Given the description of an element on the screen output the (x, y) to click on. 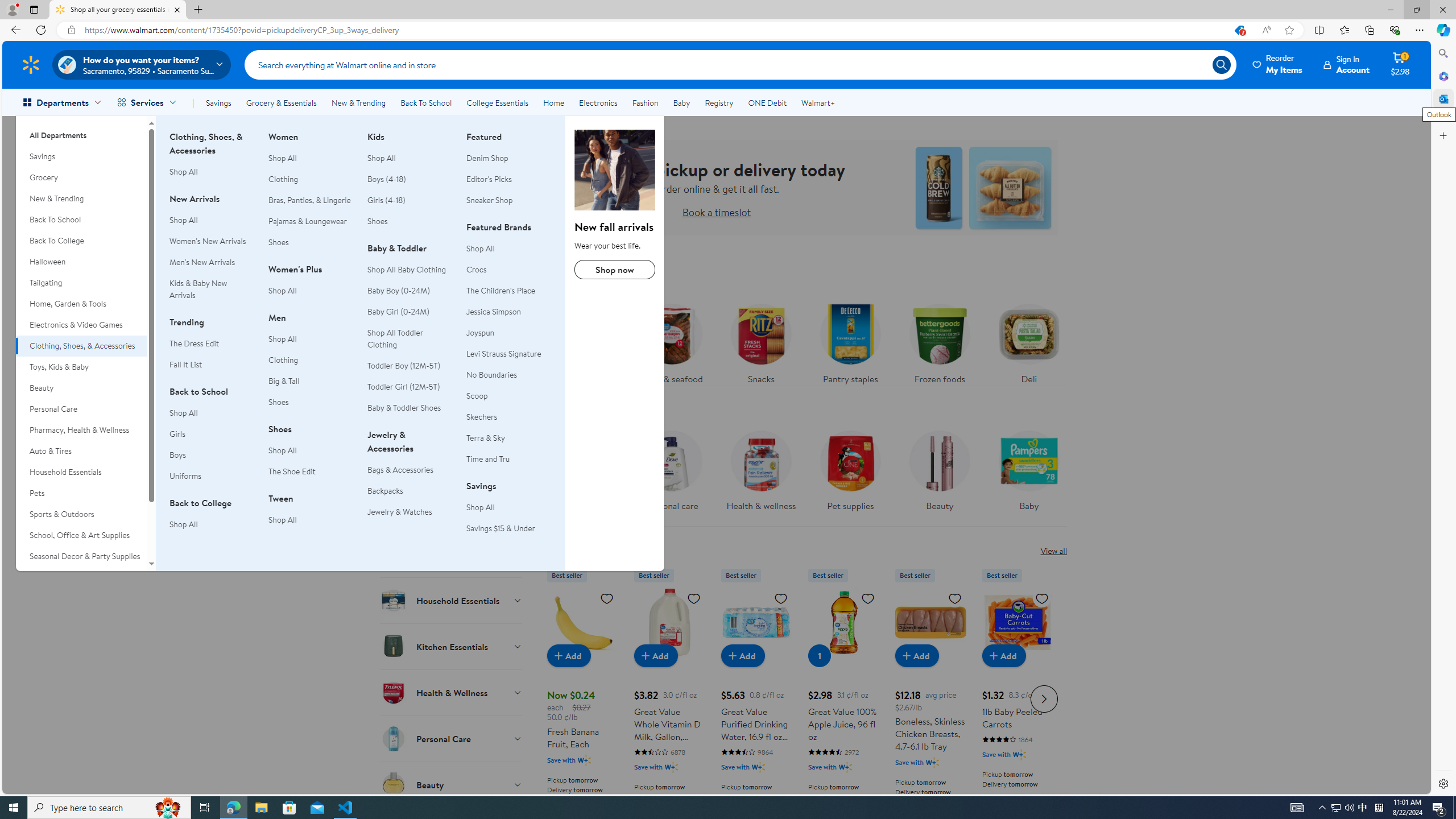
Pantry staples (850, 340)
No Boundaries (490, 374)
Personal care (671, 467)
Next slide for Product Carousel list (1044, 698)
Clothing (310, 360)
Time and Tru (508, 458)
Health & wellness (760, 467)
Grocery & Essentials (280, 102)
Savings (81, 156)
Clothing, Shoes, & AccessoriesShop All (211, 160)
Jessica Simpson (508, 311)
